Given the description of an element on the screen output the (x, y) to click on. 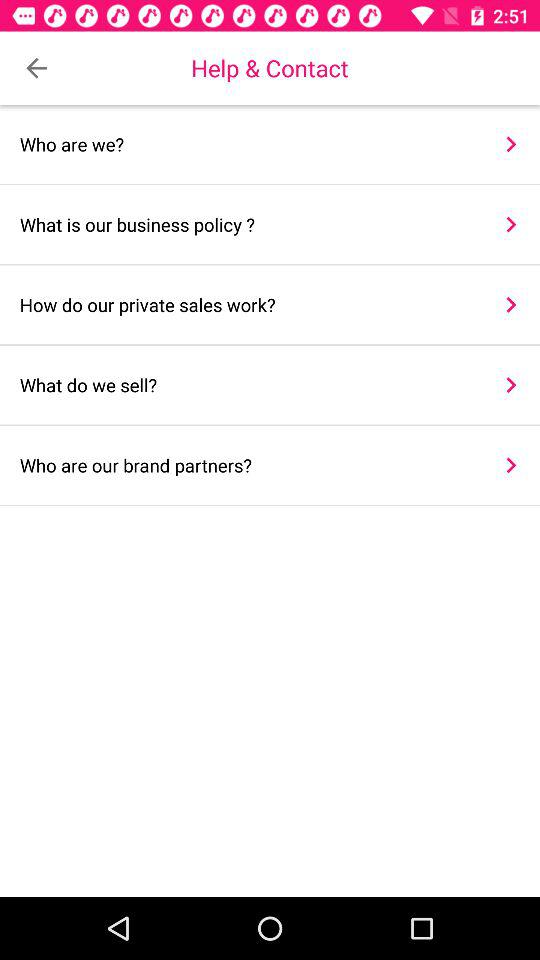
click the item below how do our item (247, 384)
